Given the description of an element on the screen output the (x, y) to click on. 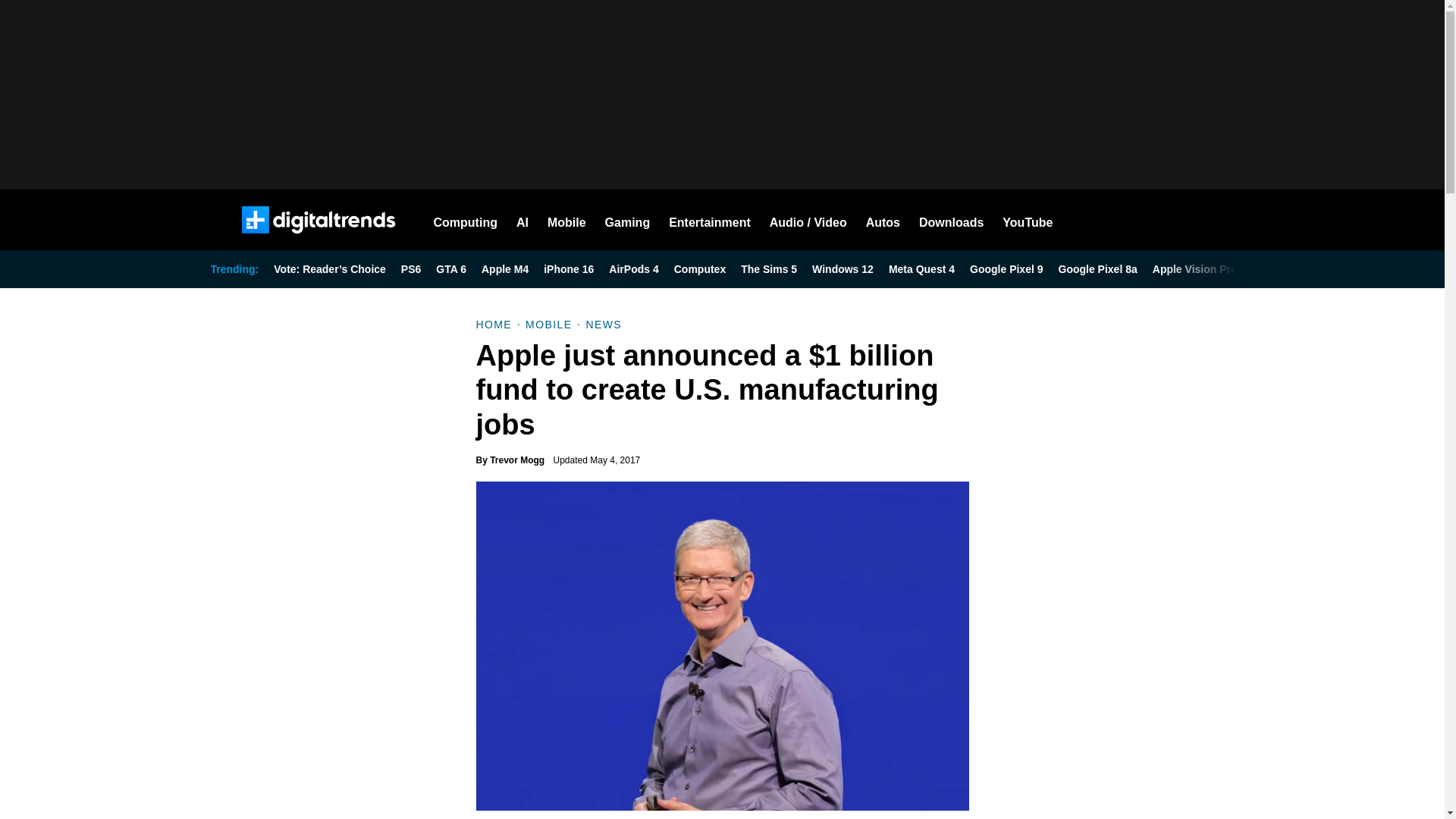
Computing (465, 219)
Entertainment (709, 219)
Downloads (951, 219)
